Given the description of an element on the screen output the (x, y) to click on. 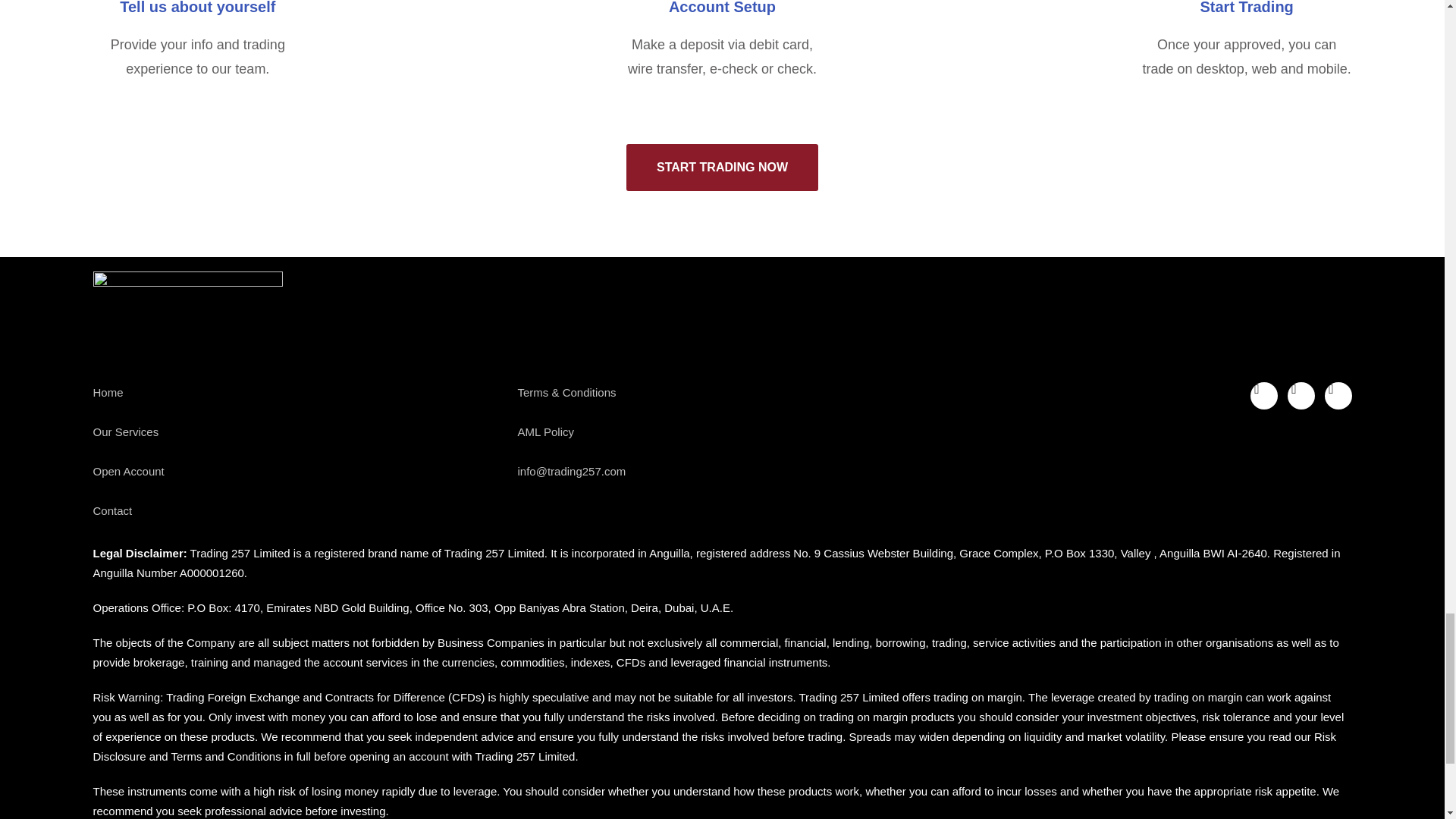
Open Account (297, 471)
AML Policy (721, 431)
Contact (297, 510)
Our Services (297, 431)
START TRADING NOW (721, 167)
Home (297, 392)
